Given the description of an element on the screen output the (x, y) to click on. 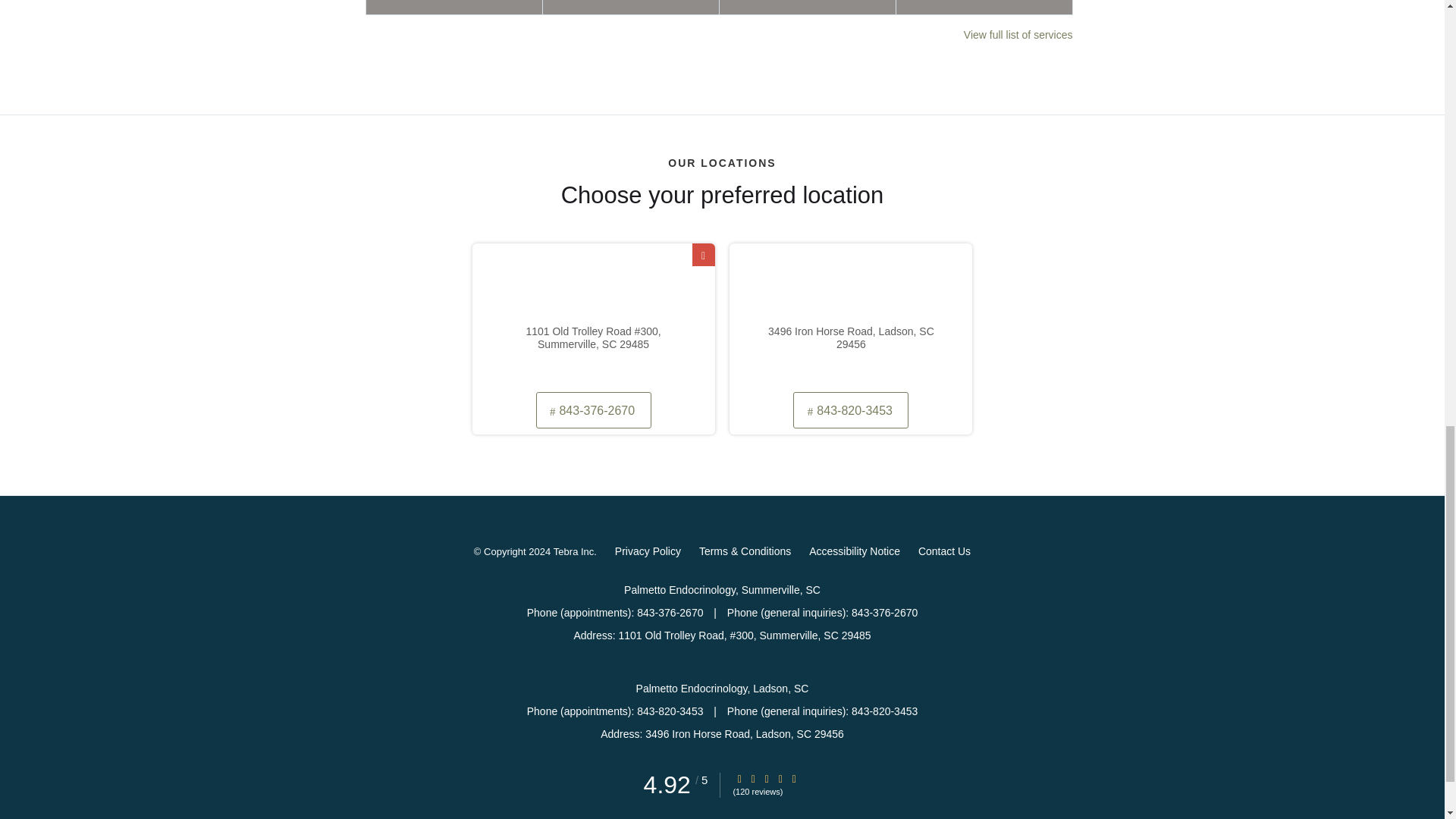
Map of Ladson (850, 315)
Star Rating (794, 778)
Map of Summerville (592, 315)
Star Rating (780, 778)
Star Rating (766, 778)
Star Rating (753, 778)
Star Rating (738, 778)
